Given the description of an element on the screen output the (x, y) to click on. 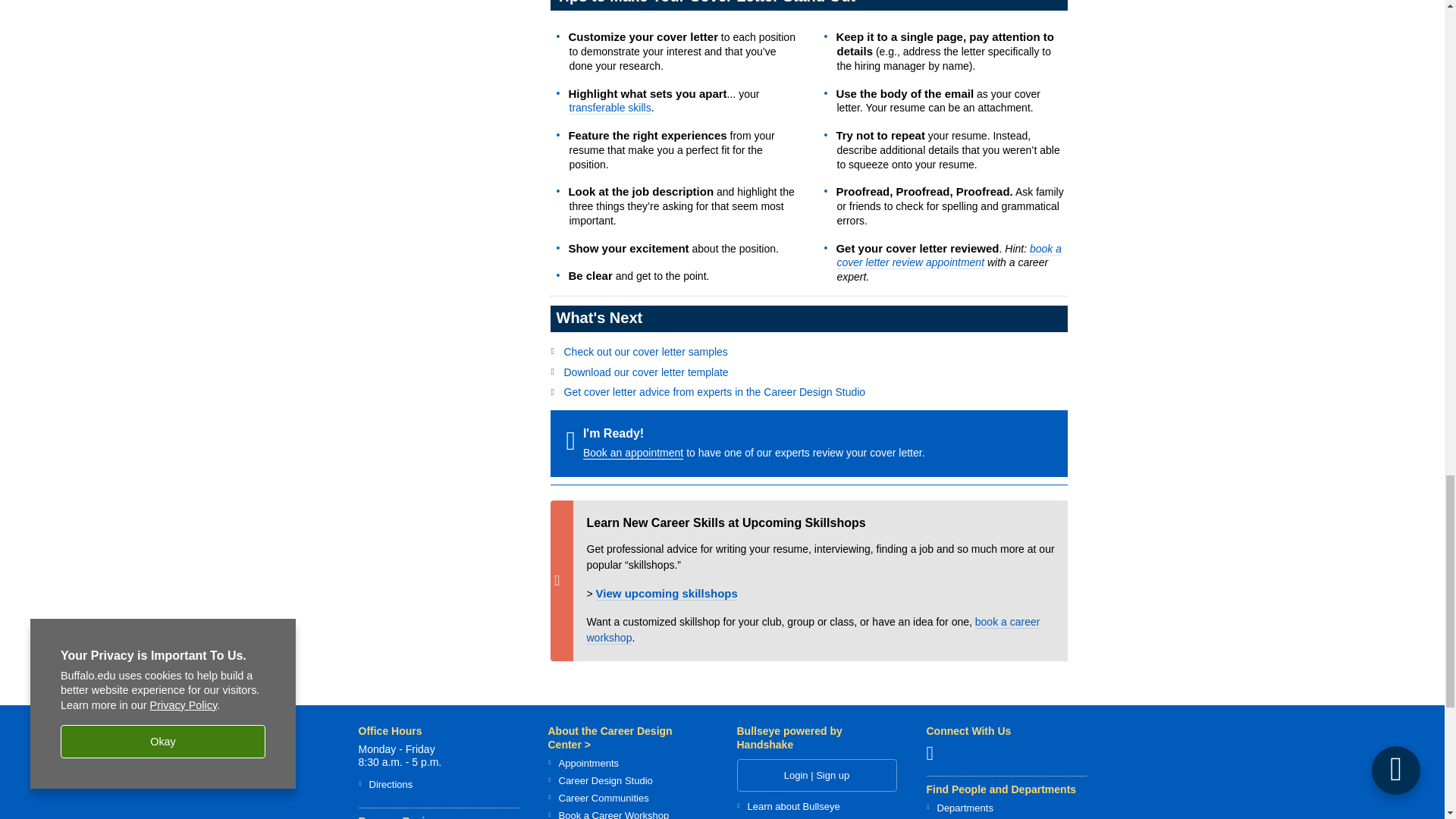
UB Career Design Center Instagram (936, 752)
